Given the description of an element on the screen output the (x, y) to click on. 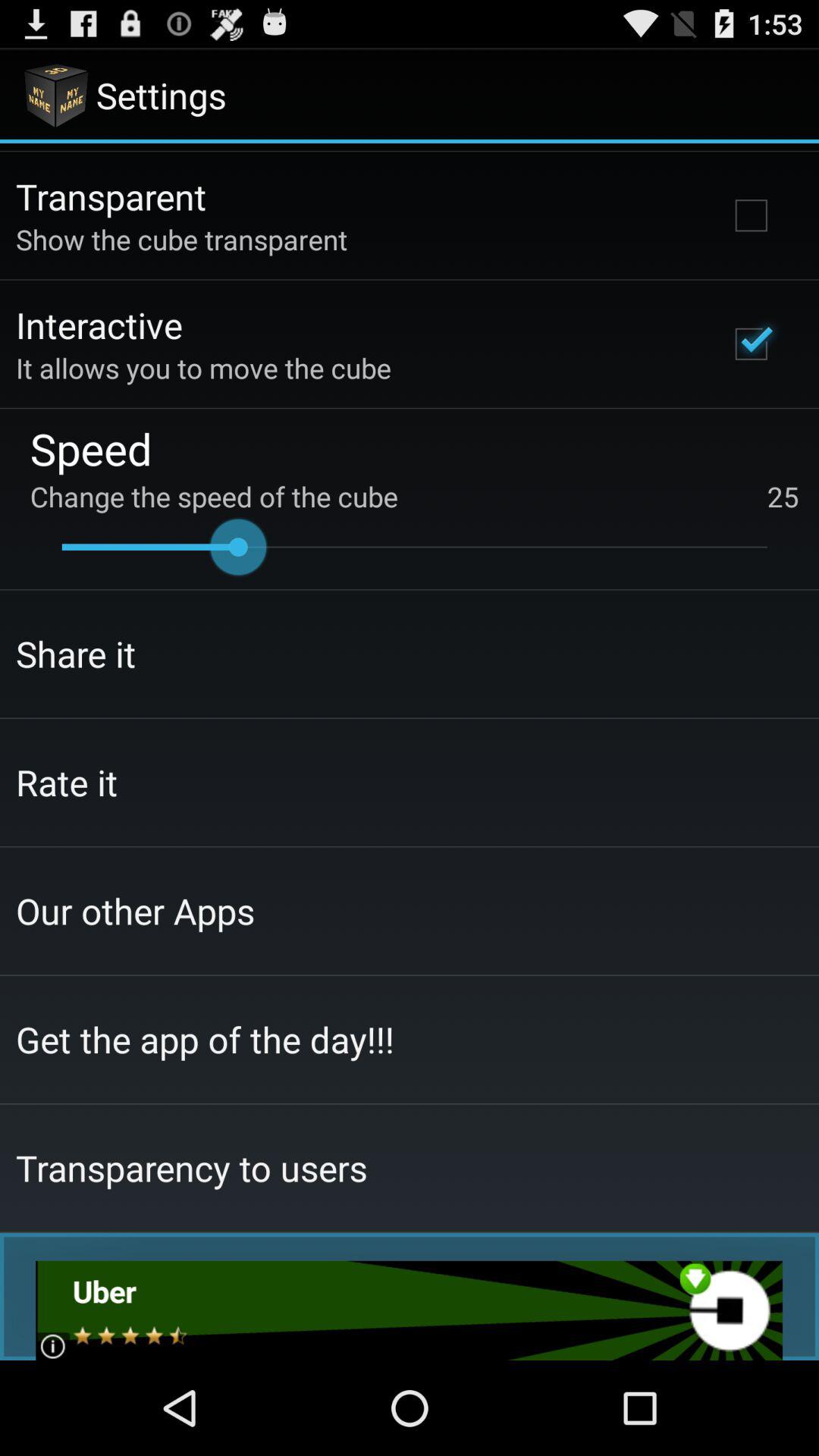
tap the icon above the share it app (414, 546)
